Given the description of an element on the screen output the (x, y) to click on. 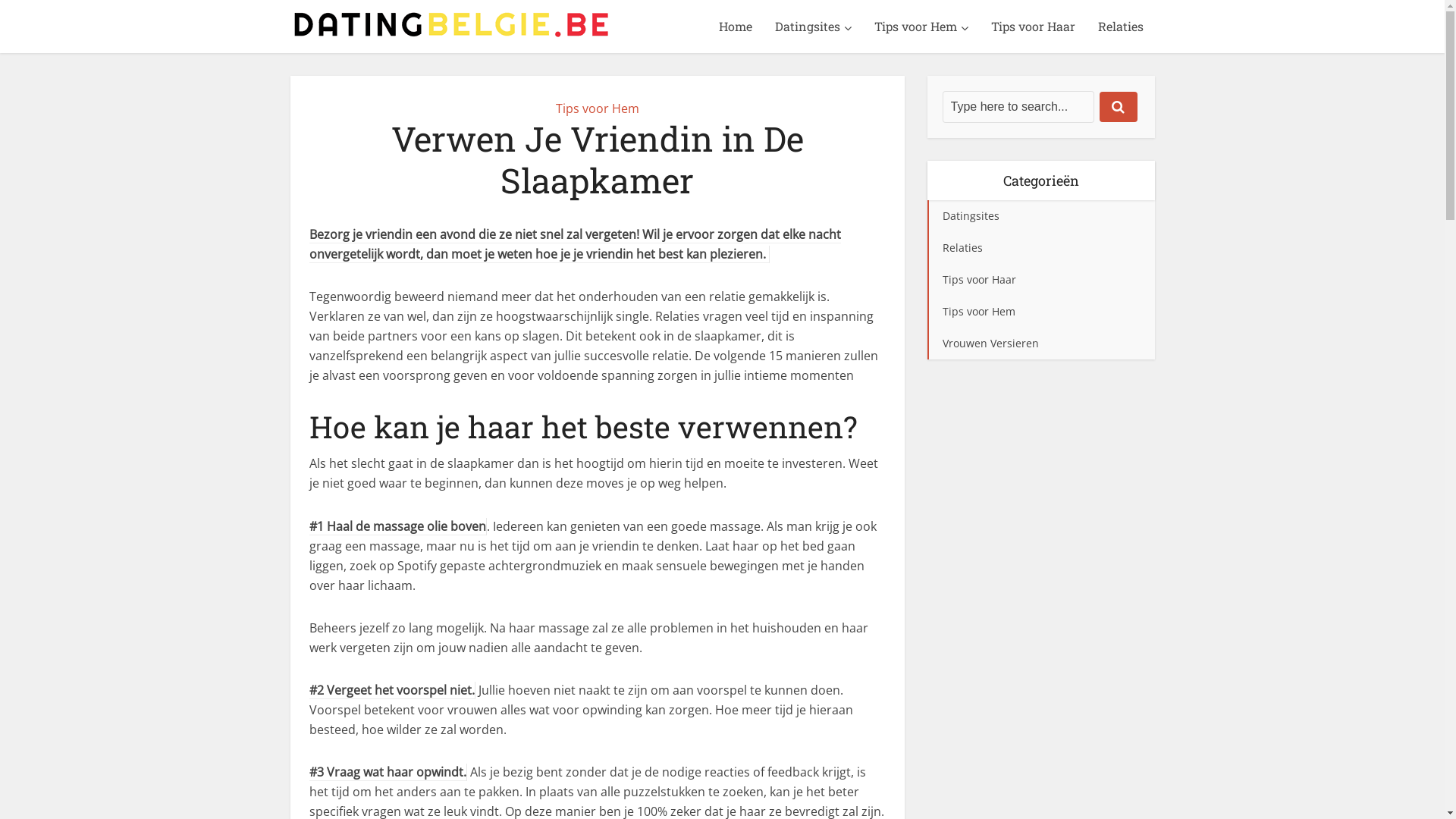
Home Element type: text (734, 26)
Tips voor Hem Element type: text (596, 108)
Tips voor Hem Element type: text (920, 26)
Vrouwen Versieren Element type: text (1040, 343)
Relaties Element type: text (1119, 26)
Relaties Element type: text (1040, 247)
Tips voor Haar Element type: text (1032, 26)
Tips voor Haar Element type: text (1040, 279)
Datingsites Element type: text (1040, 216)
Datingsites Element type: text (812, 26)
Tips voor Hem Element type: text (1040, 311)
